Given the description of an element on the screen output the (x, y) to click on. 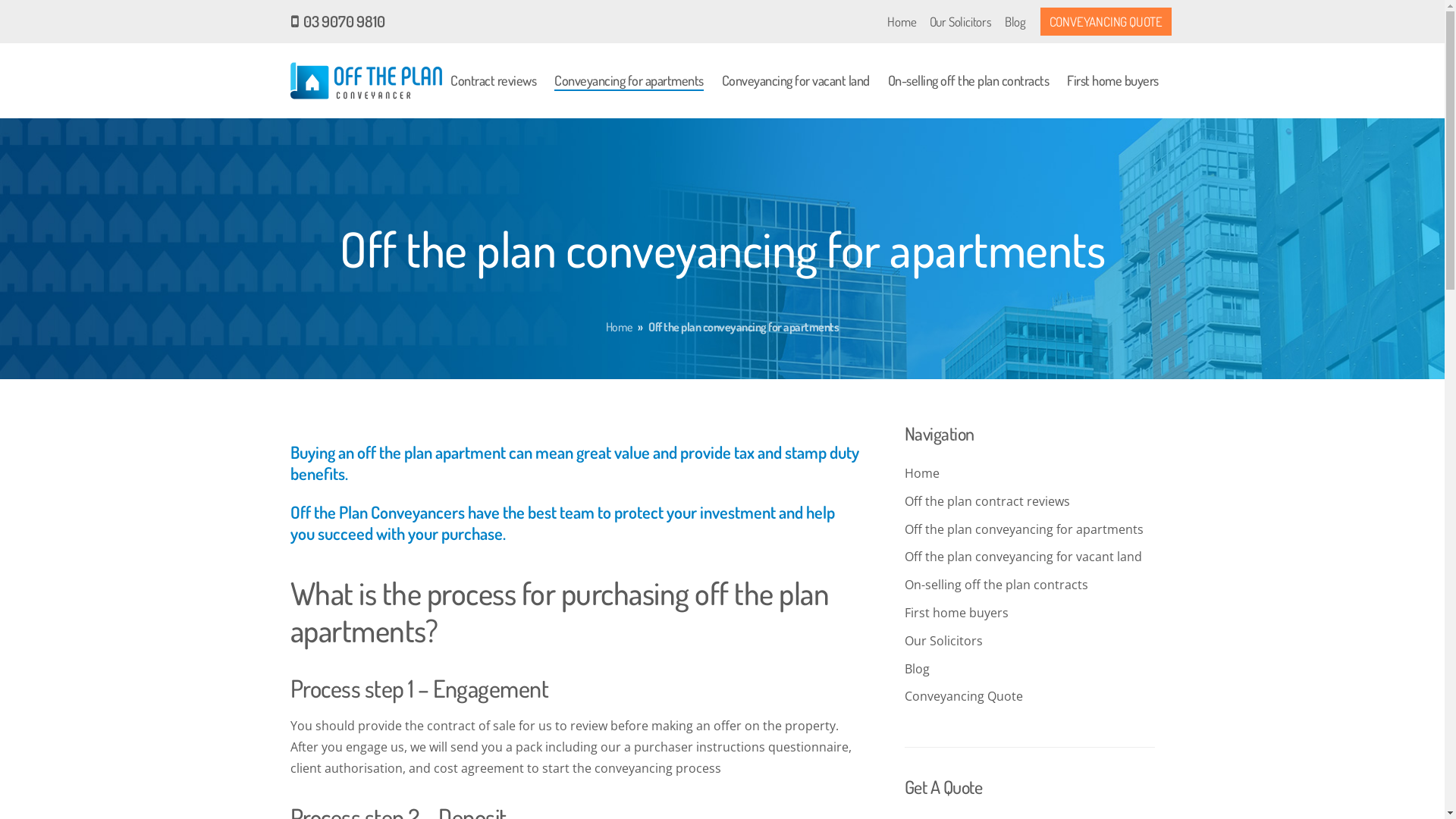
Conveyancing Quote Element type: text (348, 646)
Home Element type: text (920, 472)
First home buyers Element type: text (341, 563)
Conveyancing for apartments Element type: text (628, 80)
Blog Element type: text (915, 668)
Off the plan contract reviews Element type: text (372, 451)
On-selling off the plan contracts Element type: text (995, 584)
Off the plan conveyancing for apartments Element type: text (1022, 528)
Off the plan conveyancing for apartments Element type: text (408, 478)
Off the plan conveyancing for vacant land Element type: text (408, 506)
Disclaimer Element type: text (1002, 506)
First home buyers Element type: text (955, 612)
Sutton Laurence King Lawyers Element type: text (1023, 473)
Home Element type: text (901, 21)
03 9070 9810 Element type: text (337, 21)
Conveyancing Quote Element type: text (962, 695)
First home buyers Element type: text (1112, 80)
Blog Element type: text (301, 618)
One Rabbit Element type: text (507, 787)
On-selling off the plan contracts Element type: text (381, 535)
Our Solicitors Element type: text (942, 640)
Conveyancing for vacant land Element type: text (795, 80)
Our Solicitors Element type: text (328, 591)
CONVEYANCING QUOTE Element type: text (1105, 21)
Our Solicitors Element type: text (960, 21)
Home Element type: text (618, 326)
On-selling off the plan contracts Element type: text (967, 80)
Blog Element type: text (1015, 21)
Contract reviews Element type: text (493, 80)
Privacy Policy Element type: text (919, 506)
Off the plan contract reviews Element type: text (986, 500)
Home Element type: text (306, 423)
Off the plan conveyancing for vacant land Element type: text (1022, 556)
